Given the description of an element on the screen output the (x, y) to click on. 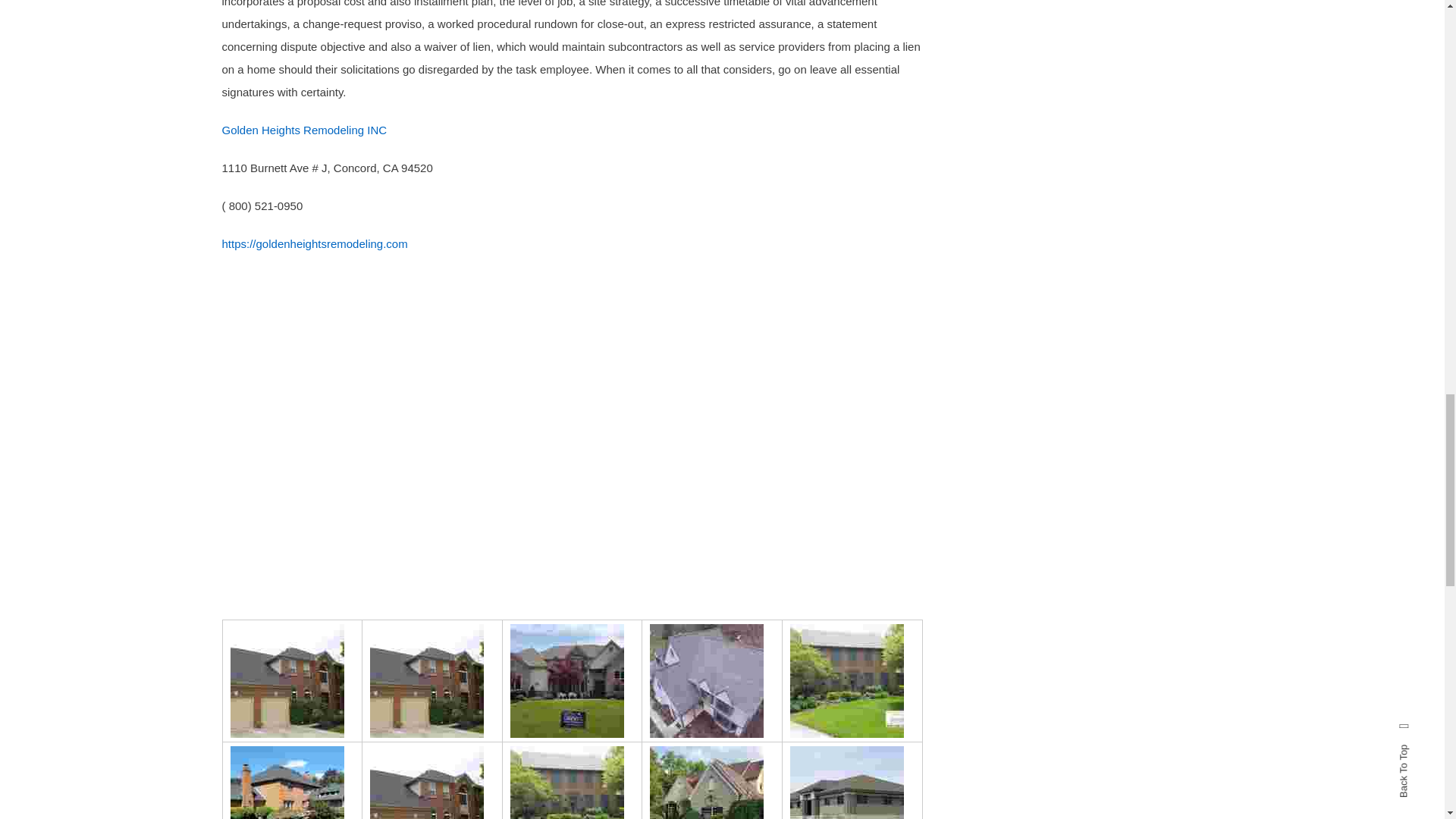
Golden Heights Remodeling INC   800-521-0950 (426, 680)
Golden Heights Remodeling INC   800-521-0950 (567, 782)
Golden Heights Remodeling INC   800-521-0950 (705, 782)
Golden Heights Remodeling INC   800-521-0950 (847, 782)
Golden Heights Remodeling INC   800-521-0950 (567, 680)
Golden Heights Remodeling INC   800-521-0950 (705, 680)
Golden Heights Remodeling INC   800-521-0950 (847, 680)
Golden Heights Remodeling INC   800-521-0950 (426, 782)
Golden Heights Remodeling INC   800-521-0950 (286, 680)
Golden Heights Remodeling INC   800-521-0950 (286, 782)
